Given the description of an element on the screen output the (x, y) to click on. 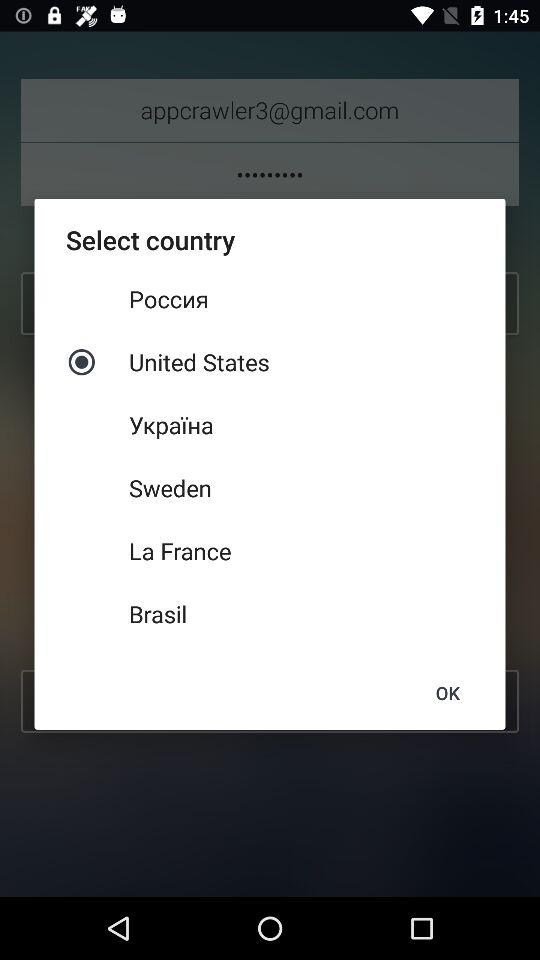
click the checkbox below the brasil icon (447, 692)
